Given the description of an element on the screen output the (x, y) to click on. 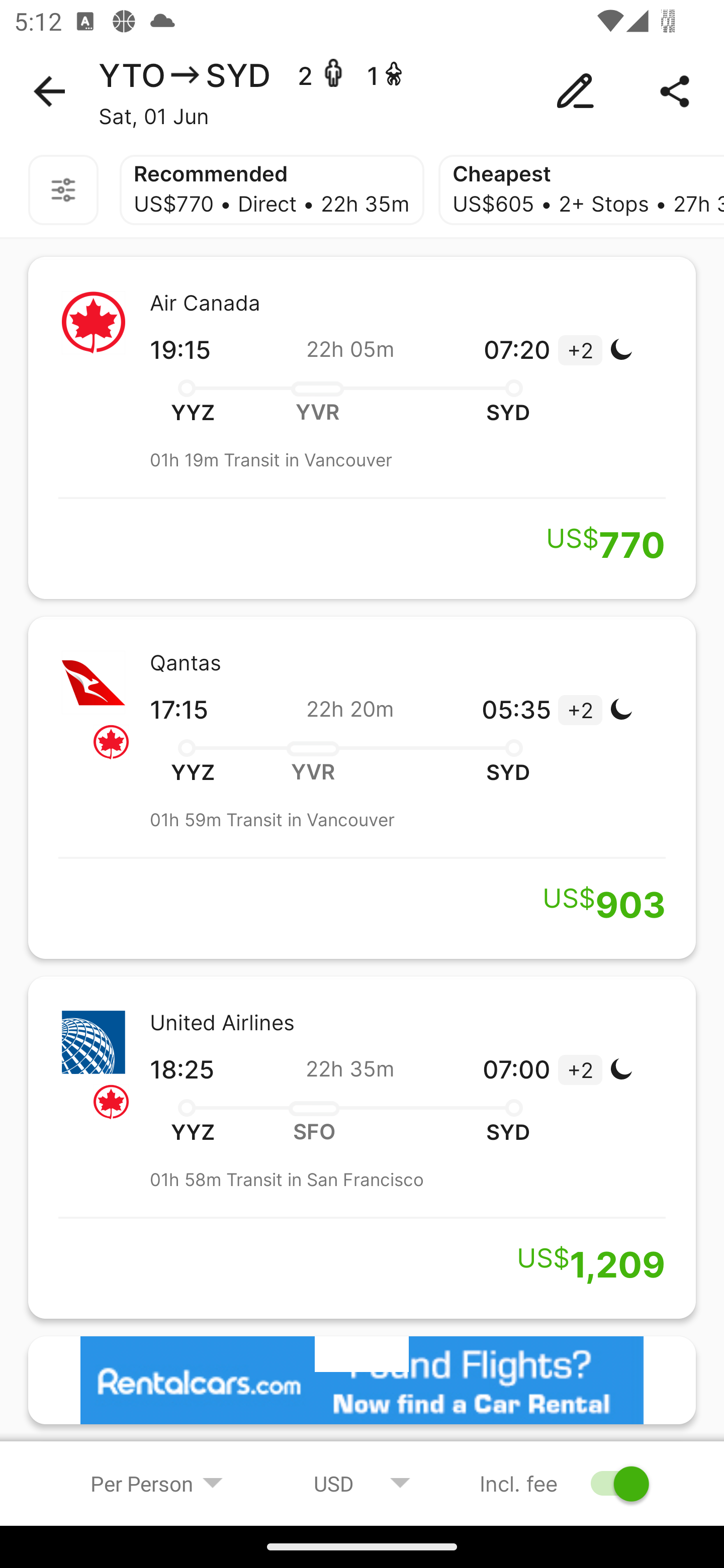
YTO SYD   2 -   1 - Sat, 01 Jun (361, 91)
Recommended  US$770 • Direct • 22h 35m (271, 190)
Cheapest US$605 • 2+ Stops • 27h 35m (581, 190)
%3FaffiliateCode%3Dwego882 (361, 1380)
Per Person (156, 1482)
USD (361, 1482)
